Given the description of an element on the screen output the (x, y) to click on. 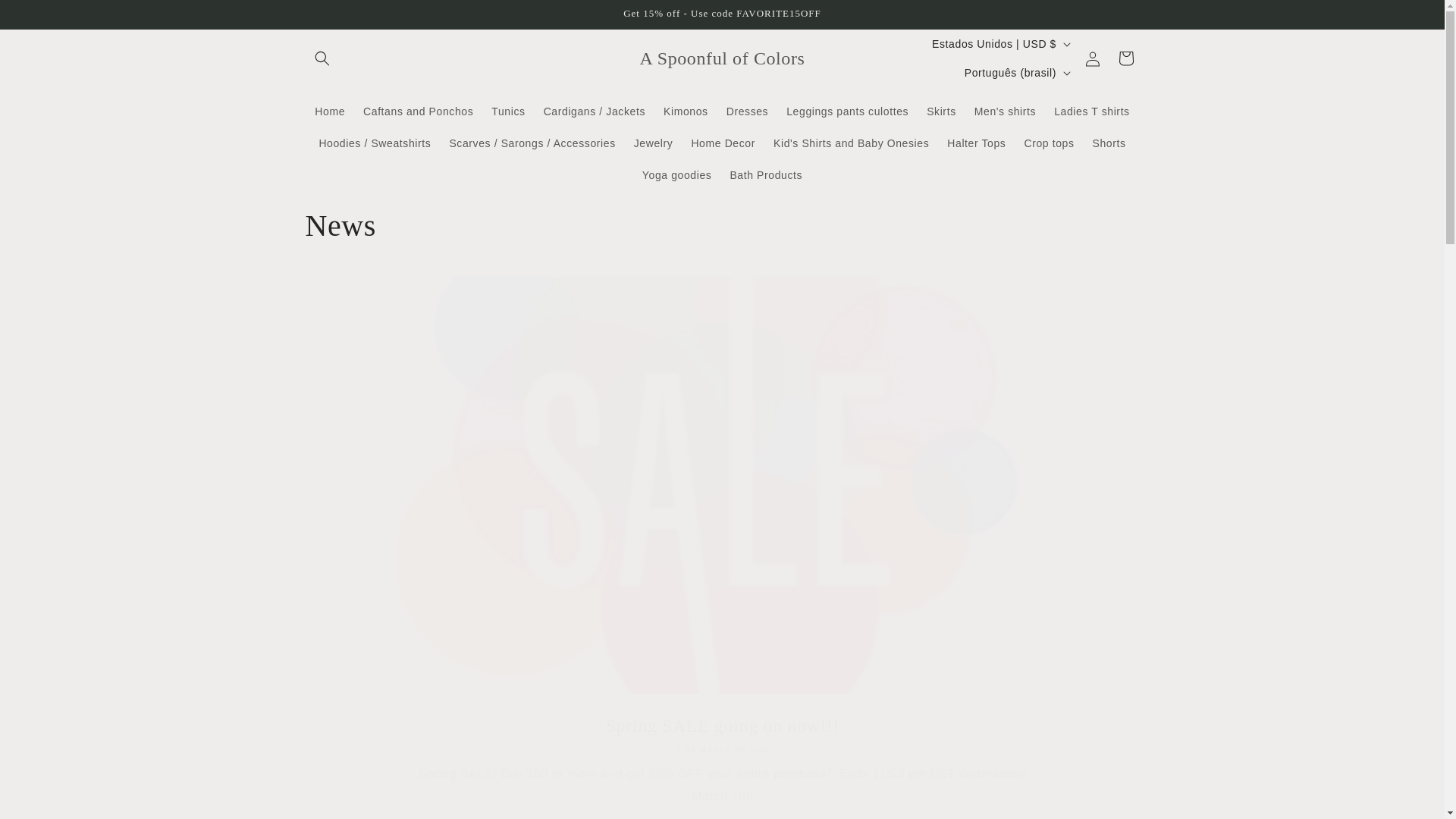
Kimonos (685, 111)
Leggings pants culottes (847, 111)
Ladies T shirts (1091, 111)
A Spoonful of Colors (721, 58)
Men's shirts (1005, 111)
Skirts (941, 111)
Caftans and Ponchos (417, 111)
Tunics (507, 111)
Home (329, 111)
News (721, 225)
